Given the description of an element on the screen output the (x, y) to click on. 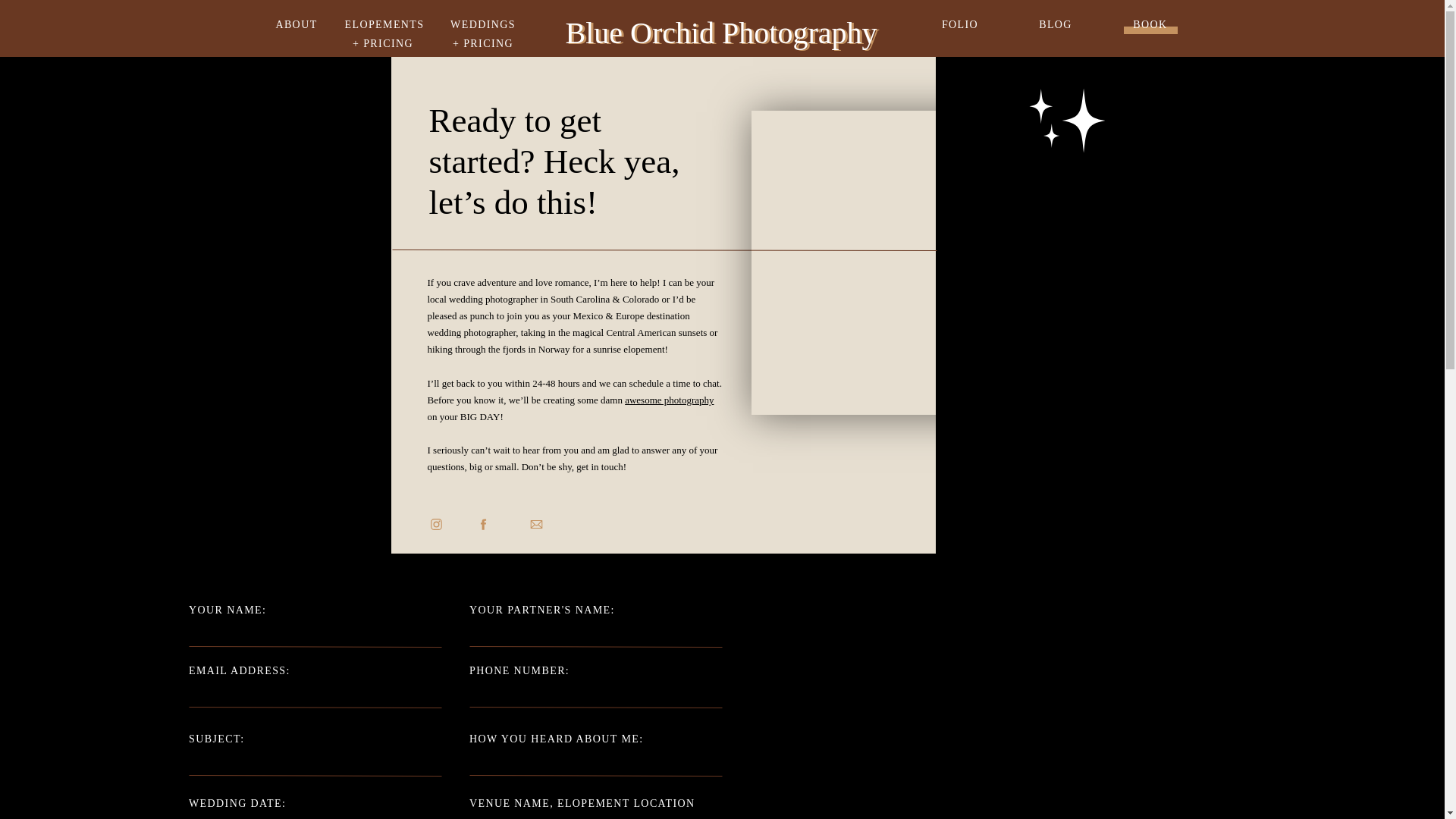
Blue Orchid Photography (720, 27)
FOLIO (960, 23)
awesome photography (668, 399)
BOOK (1150, 21)
BLOG (1054, 23)
Blue Orchid Photography (723, 28)
ABOUT (295, 23)
